Given the description of an element on the screen output the (x, y) to click on. 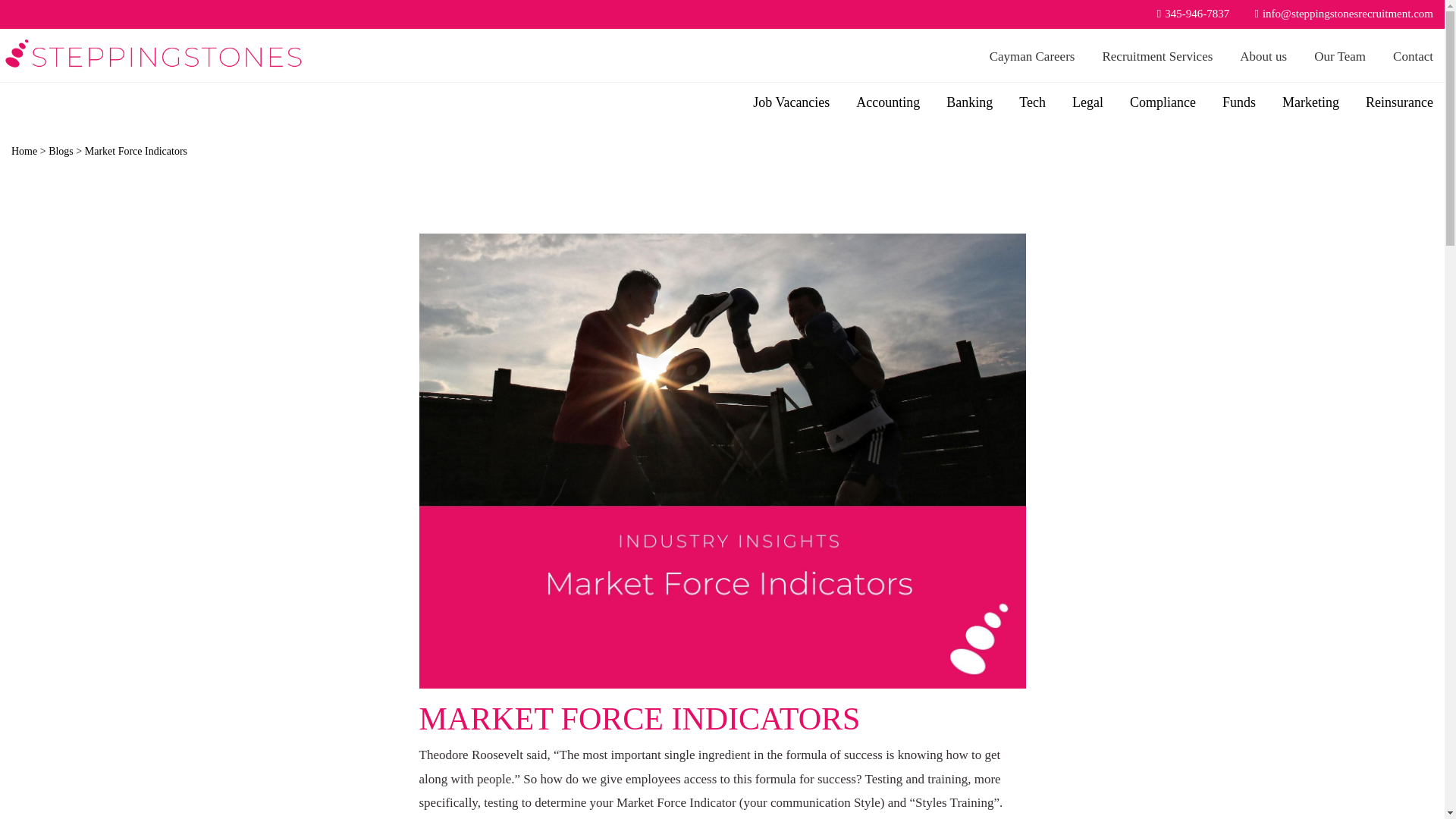
Go to SteppingStones Recruitment. (24, 151)
Go to the Blogs category archives. (61, 151)
Recruitment Services (1159, 56)
Cayman Careers (1034, 56)
345-946-7837 (1187, 14)
